Given the description of an element on the screen output the (x, y) to click on. 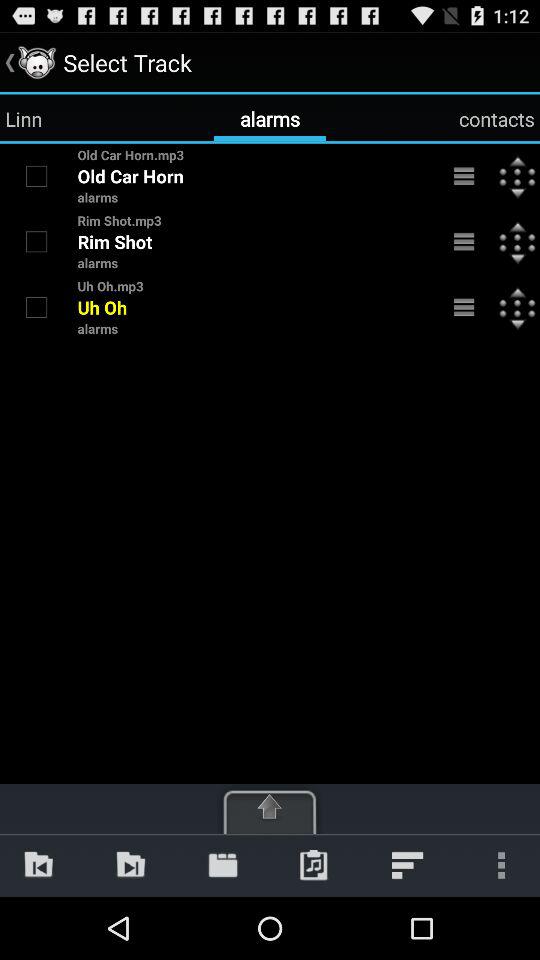
select file (36, 176)
